Given the description of an element on the screen output the (x, y) to click on. 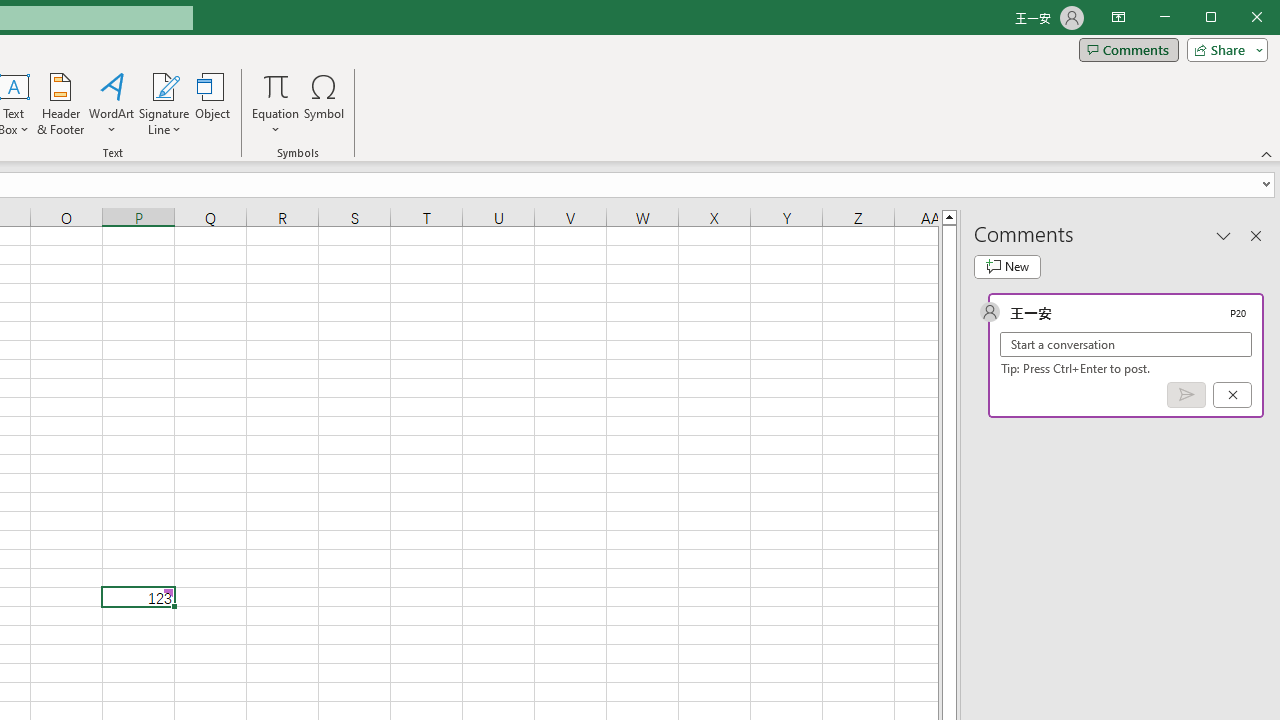
Equation (275, 86)
Header & Footer... (60, 104)
Signature Line (164, 104)
Equation (275, 104)
Start a conversation (1126, 344)
Object... (213, 104)
Maximize (1239, 18)
